Given the description of an element on the screen output the (x, y) to click on. 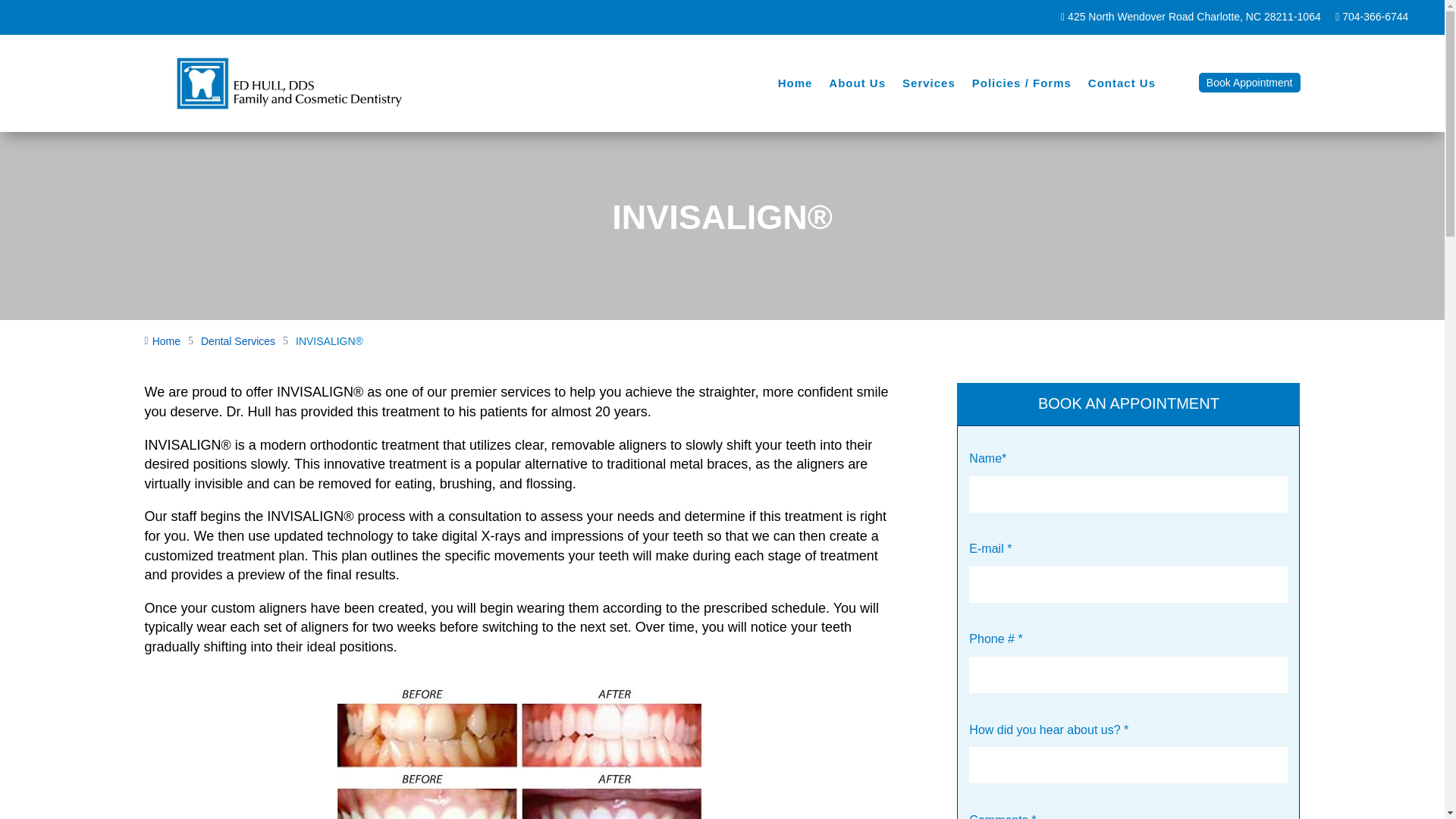
425 North Wendover Road Charlotte, NC 28211-1064 (1190, 16)
ED-HULL-DDS-Logo (288, 83)
Dental Services (237, 341)
Hull-Dentistry-Charlotte-NC-Invisalign (519, 753)
Home (794, 86)
Services (928, 86)
Book Appointment (1249, 82)
Contact Us (1121, 86)
704-366-6744 (1371, 16)
About Us (856, 86)
